Given the description of an element on the screen output the (x, y) to click on. 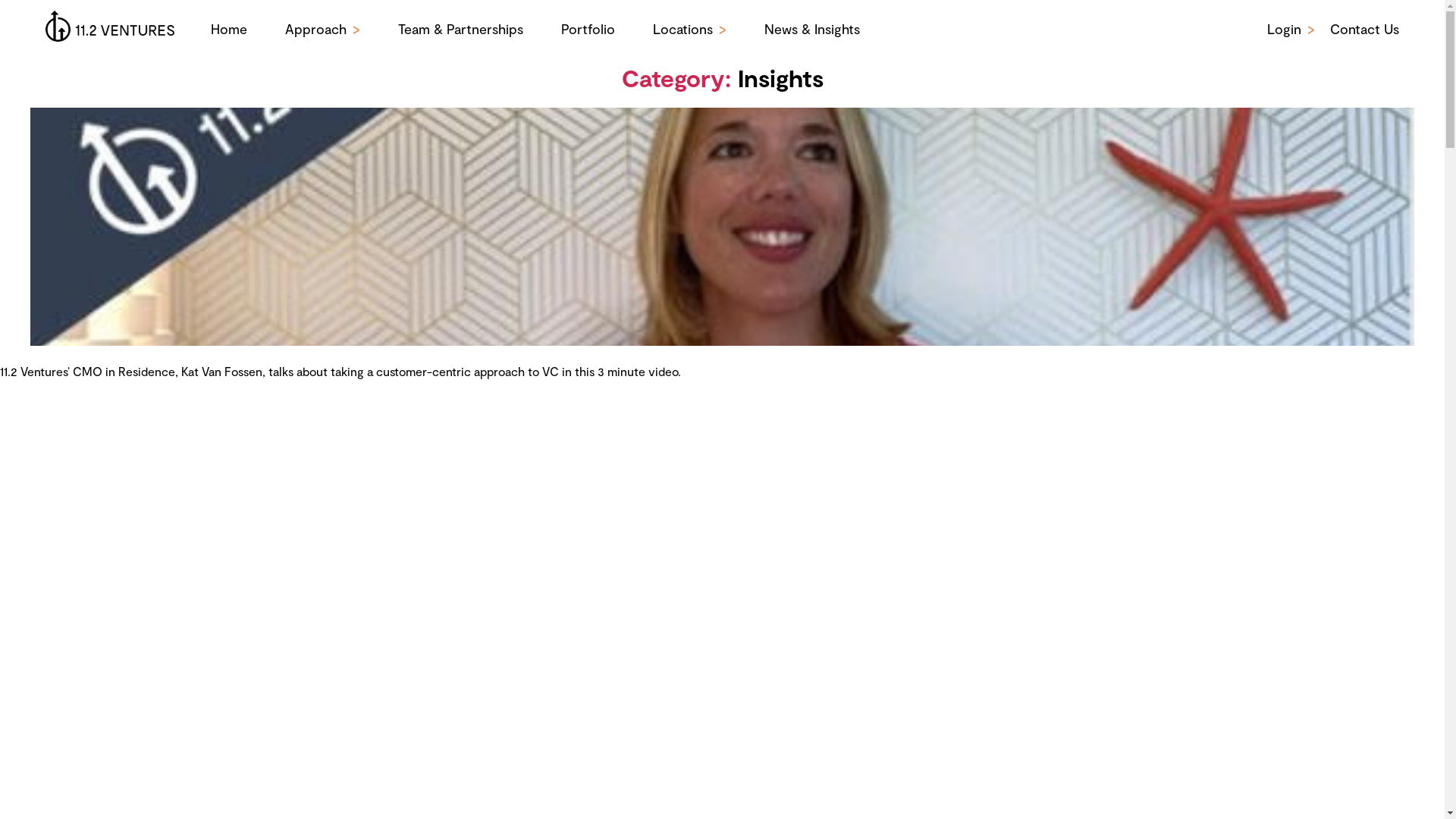
Approach Element type: text (315, 28)
Contact Us Element type: text (1364, 28)
Locations Element type: text (682, 28)
News & Insights Element type: text (811, 28)
Home Element type: text (228, 28)
Login Element type: text (1284, 28)
Portfolio Element type: text (588, 28)
Team & Partnerships Element type: text (460, 28)
